Given the description of an element on the screen output the (x, y) to click on. 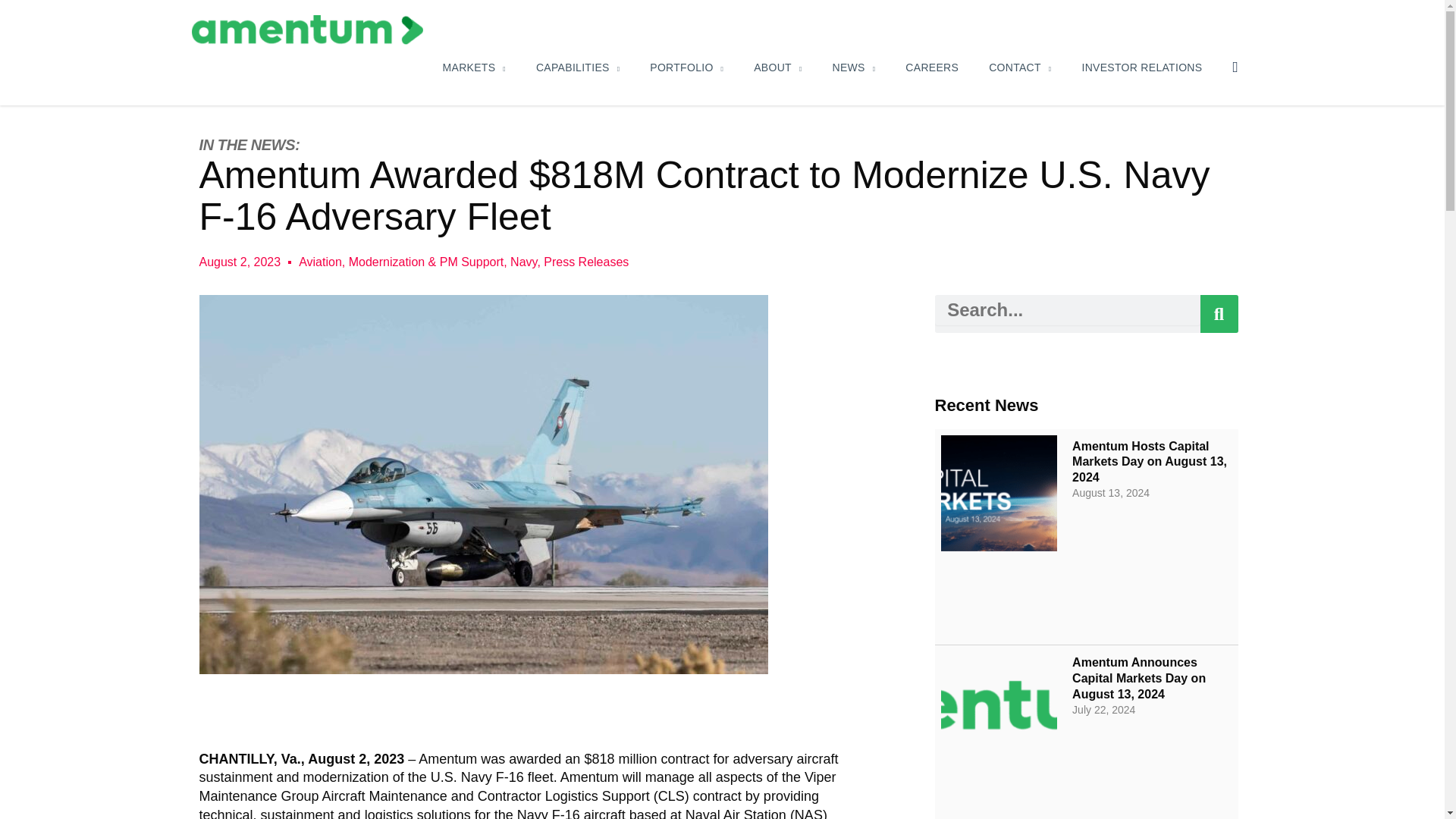
PORTFOLIO (686, 66)
CAPABILITIES (577, 66)
MARKETS (474, 66)
